Given the description of an element on the screen output the (x, y) to click on. 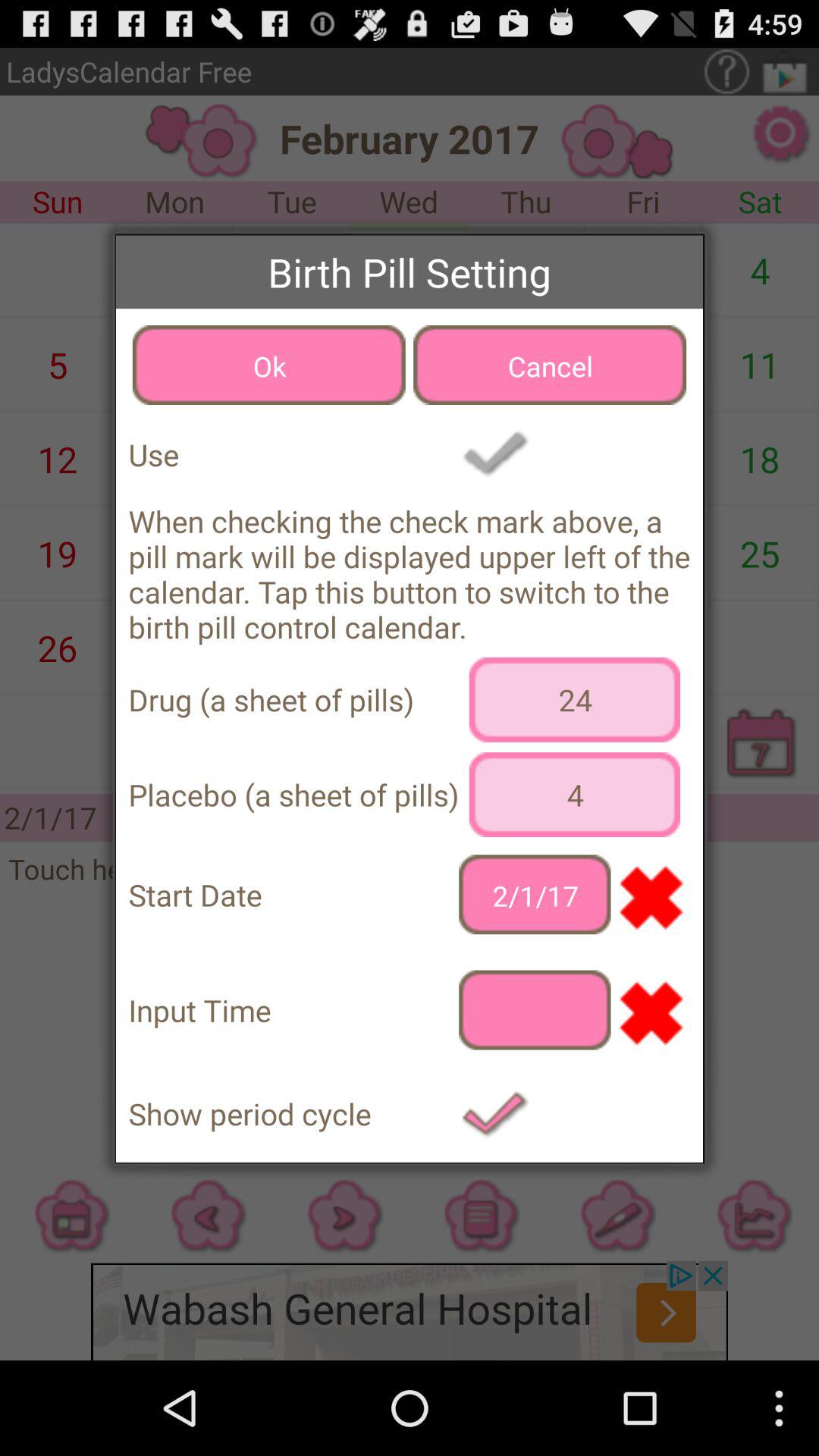
turn on the button next to cancel icon (268, 364)
